Given the description of an element on the screen output the (x, y) to click on. 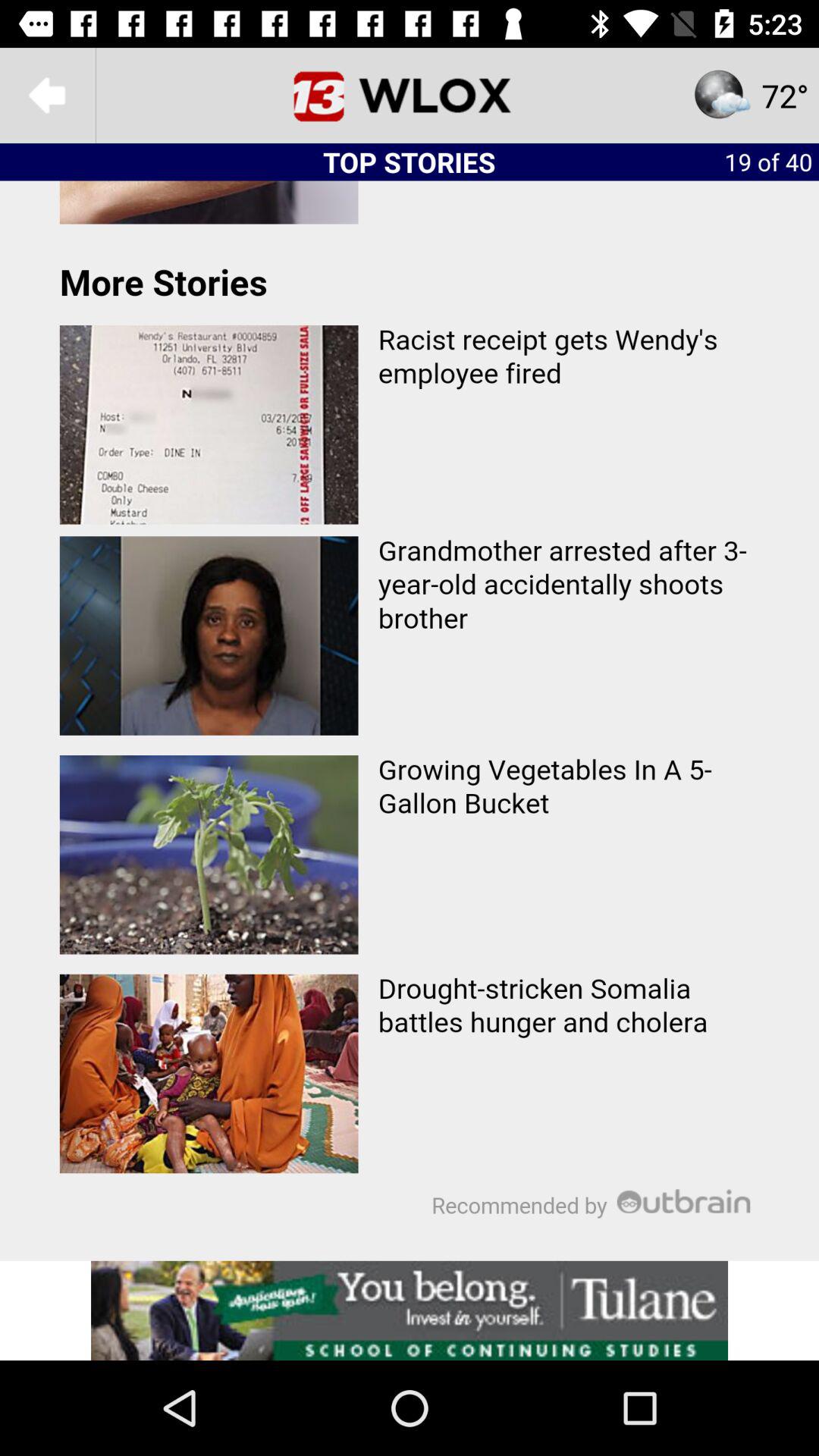
view more stories (409, 720)
